Given the description of an element on the screen output the (x, y) to click on. 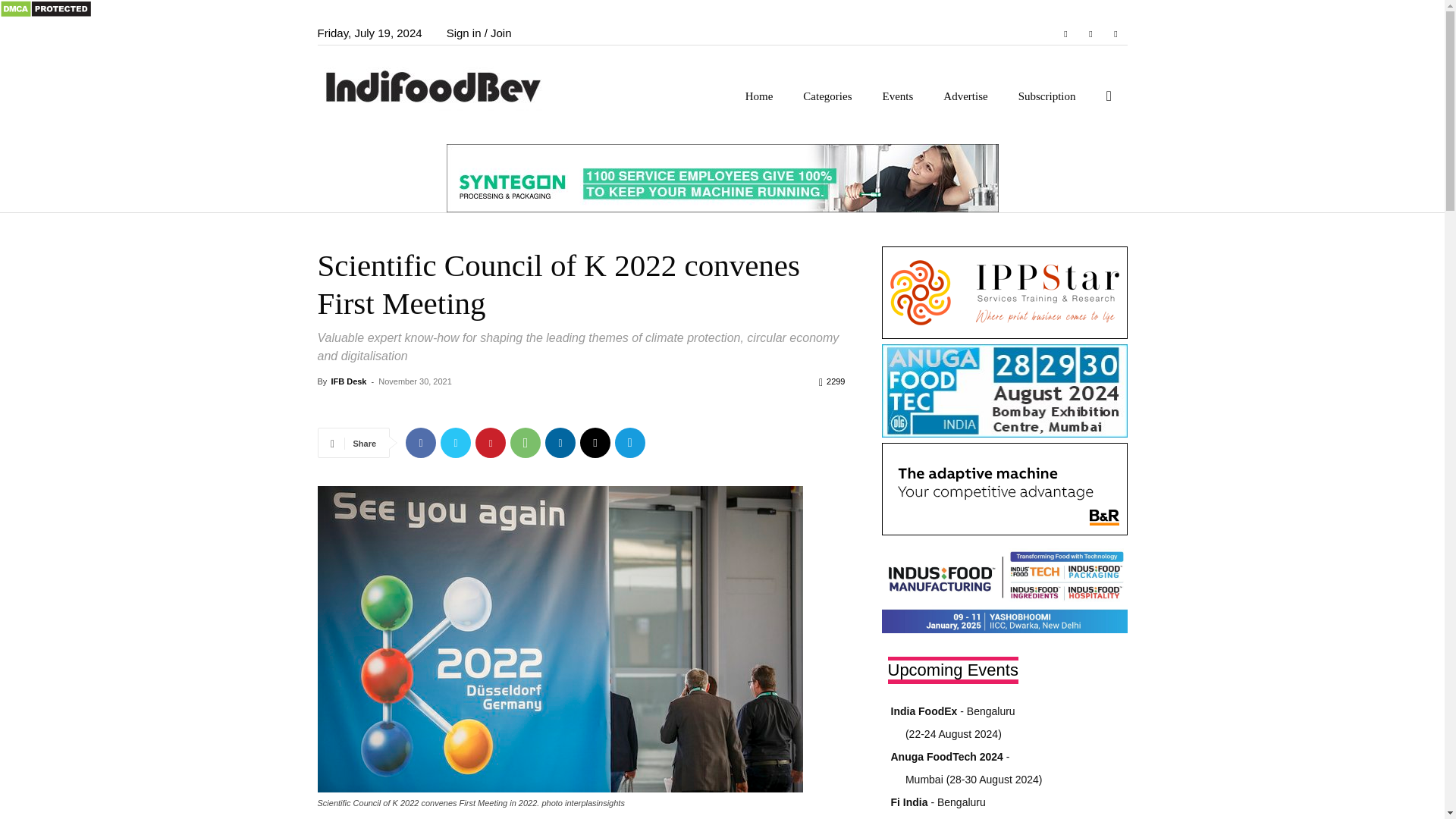
WhatsApp (525, 442)
IndiFoodBev (438, 85)
Linkedin (1090, 33)
Twitter (1114, 33)
Linkedin (559, 442)
Twitter (455, 442)
Facebook (1065, 33)
DMCA.com Protection Status (45, 14)
Pinterest (490, 442)
Facebook (420, 442)
Email (594, 442)
topFacebookLike (430, 408)
